Given the description of an element on the screen output the (x, y) to click on. 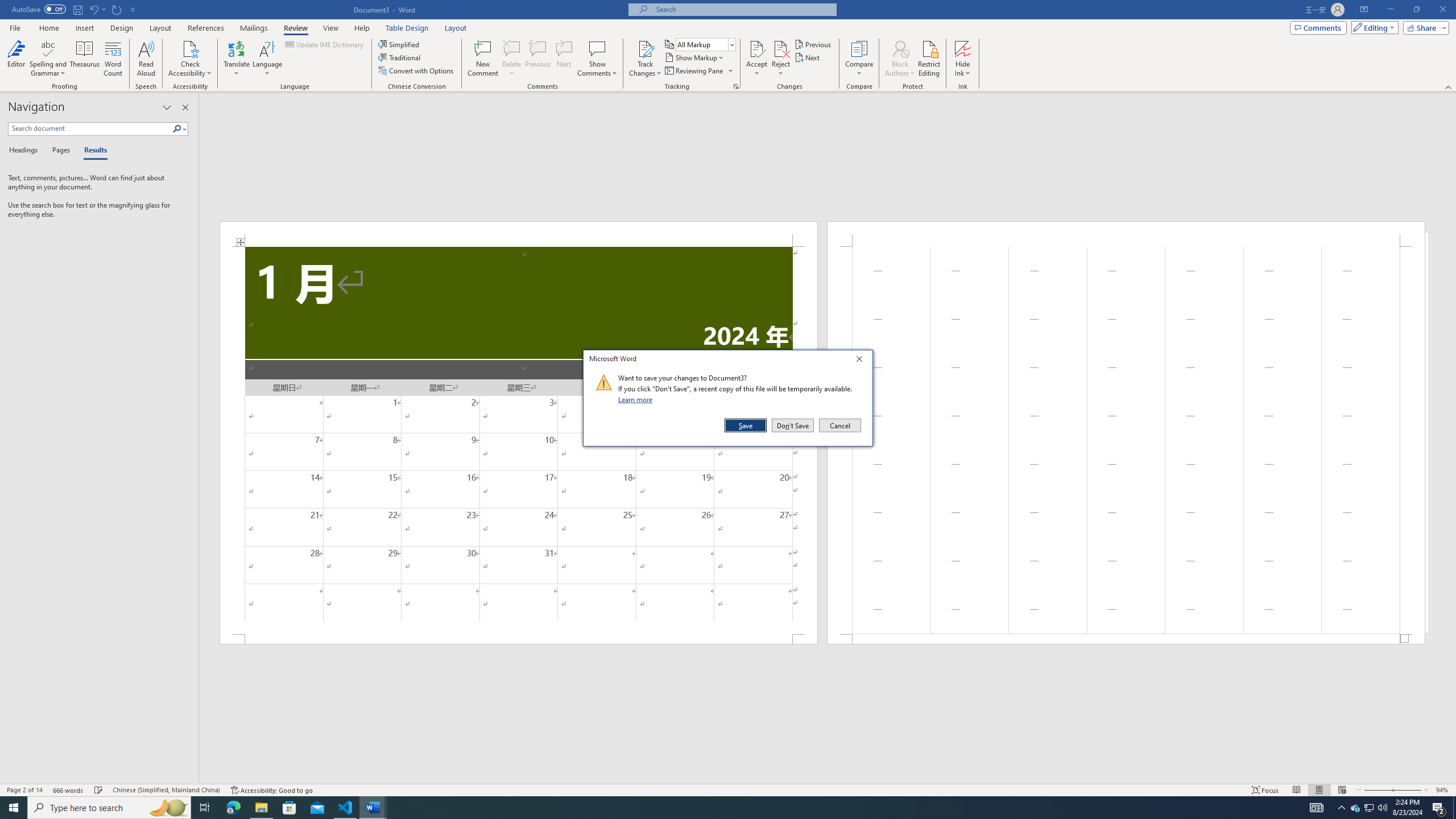
Search highlights icon opens search home window (167, 807)
Accept (756, 58)
Block Authors (900, 48)
Learn more (636, 399)
Undo Apply Quick Style (92, 9)
Microsoft Edge (233, 807)
Show Comments (597, 58)
Word Count 666 words (68, 790)
